Given the description of an element on the screen output the (x, y) to click on. 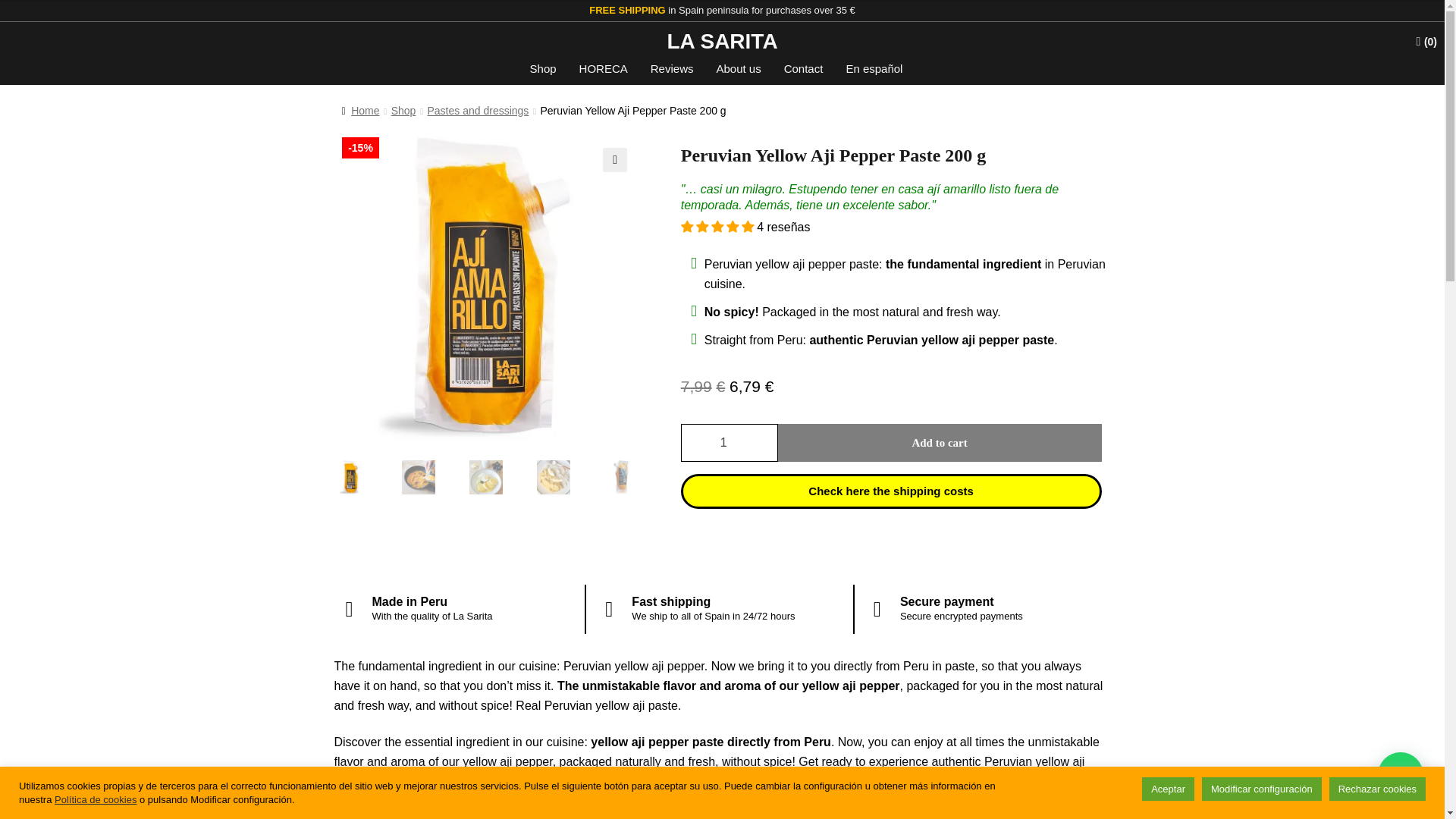
1 (729, 442)
Contact (803, 68)
HORECA (603, 68)
LA SARITA (721, 41)
Add to cart (939, 442)
Reviews (671, 68)
About us (737, 68)
Home (359, 110)
Shop (403, 110)
Shop (542, 68)
Pastes and dressings (478, 110)
